Given the description of an element on the screen output the (x, y) to click on. 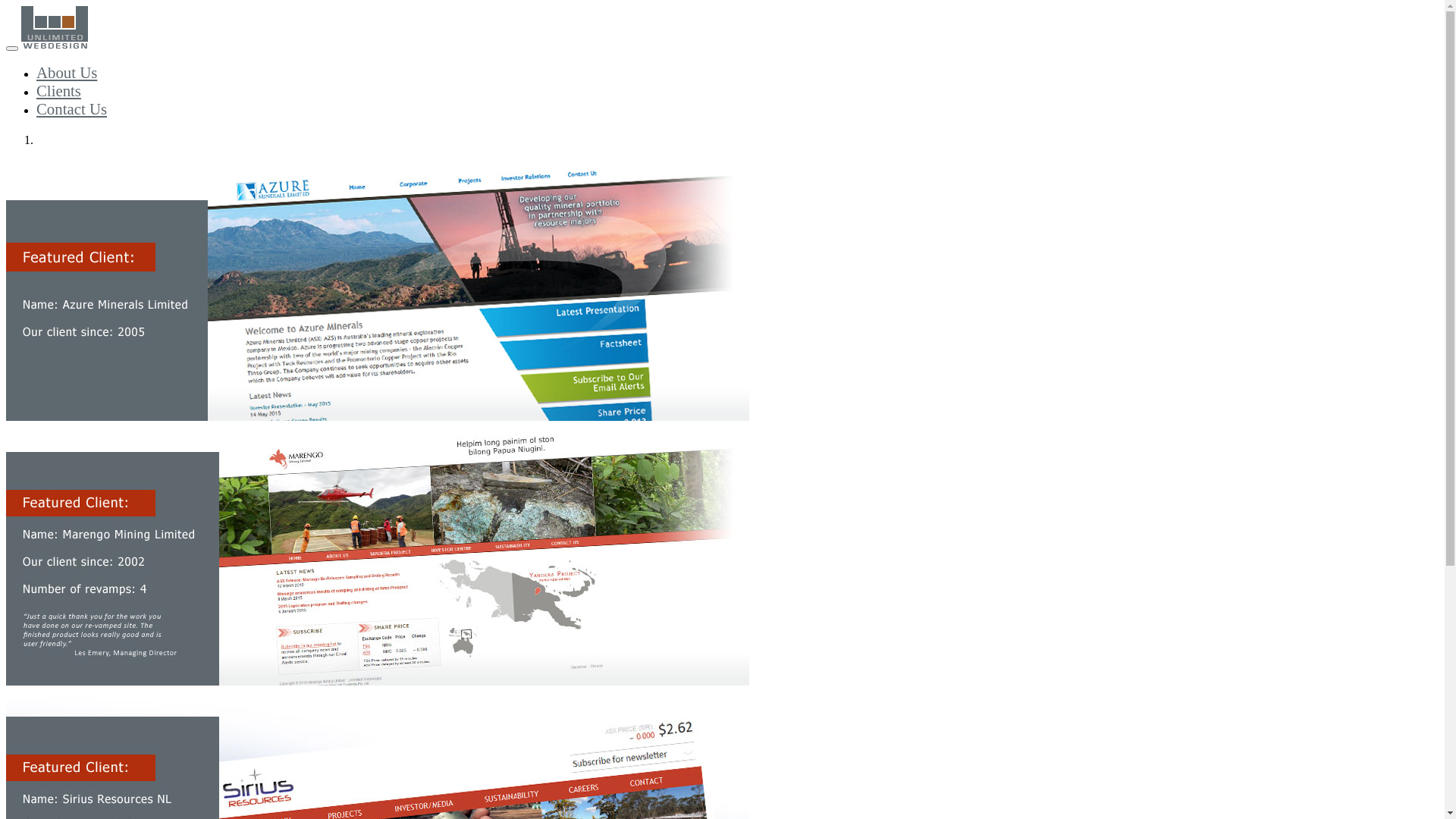
About Us Element type: text (66, 72)
Contact Us Element type: text (71, 108)
Clients Element type: text (58, 90)
